Given the description of an element on the screen output the (x, y) to click on. 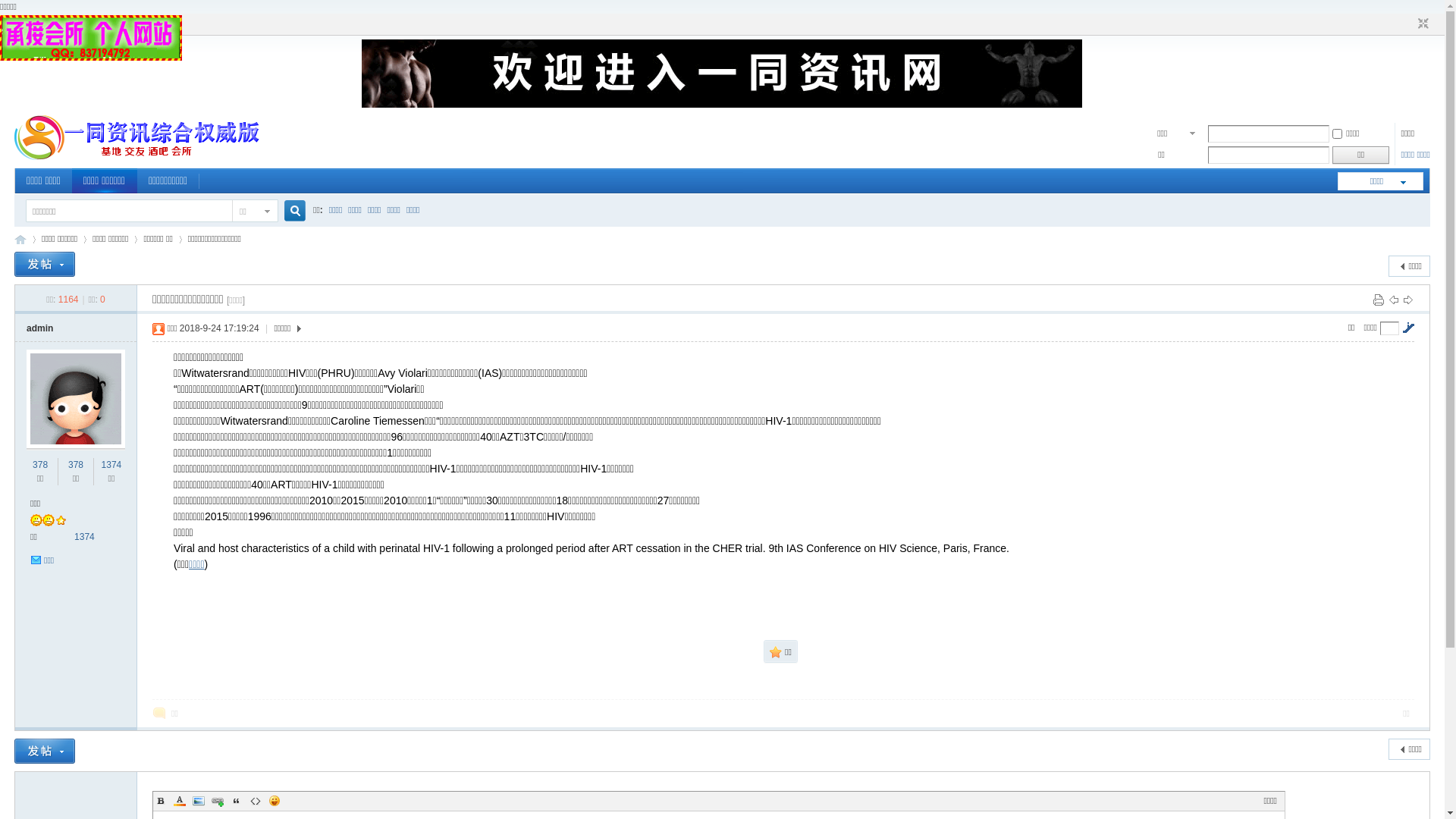
Smilies Element type: text (274, 800)
Link Element type: text (217, 800)
Color Element type: text (179, 800)
Code Element type: text (255, 800)
B Element type: text (160, 800)
378 Element type: text (75, 464)
Image Element type: text (198, 800)
1374 Element type: text (111, 464)
admin Element type: text (39, 328)
378 Element type: text (39, 464)
true Element type: text (289, 210)
Quote Element type: text (236, 800)
1374 Element type: text (84, 536)
